Given the description of an element on the screen output the (x, y) to click on. 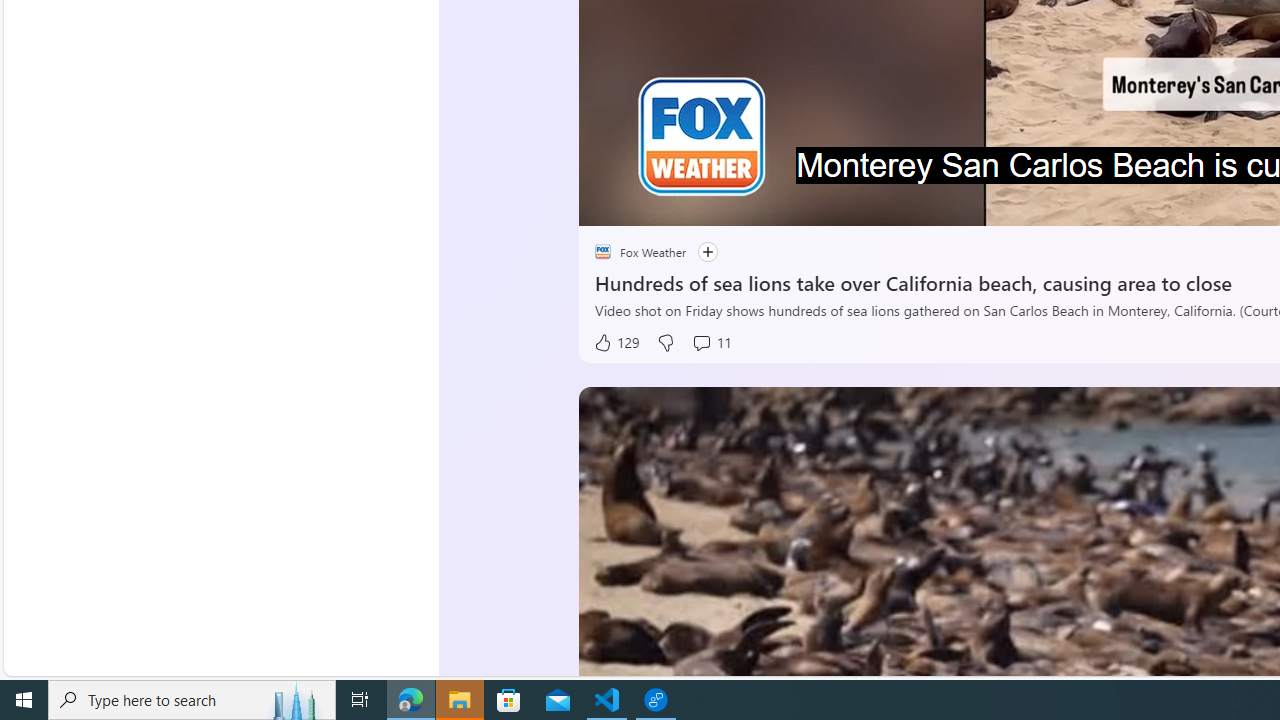
Seek Back (648, 203)
129 Like (615, 343)
Follow (697, 251)
View comments 11 Comment (711, 343)
Seek Forward (688, 203)
placeholder (601, 252)
To get missing image descriptions, open the context menu. (648, 202)
placeholder Fox Weather (639, 252)
Pause (607, 203)
